Given the description of an element on the screen output the (x, y) to click on. 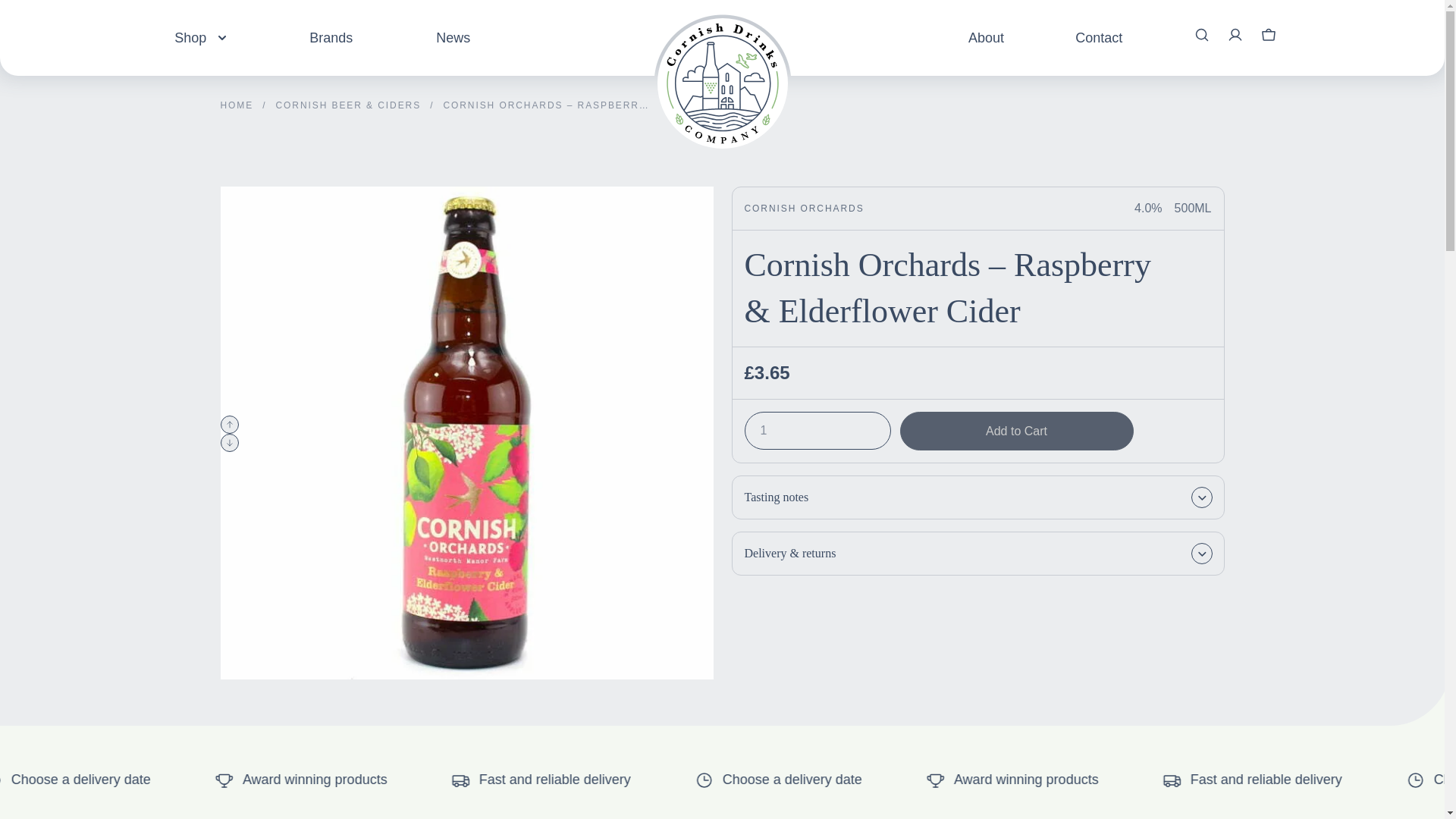
Skip to content (30, 21)
Contact (1098, 37)
Cornish Drinks Company Logo (721, 83)
HOME (236, 104)
Brands (330, 37)
News (452, 37)
Add to Cart (1015, 430)
Shop (199, 37)
1 (817, 430)
Cornish Drinks Company Logo (721, 56)
